Given the description of an element on the screen output the (x, y) to click on. 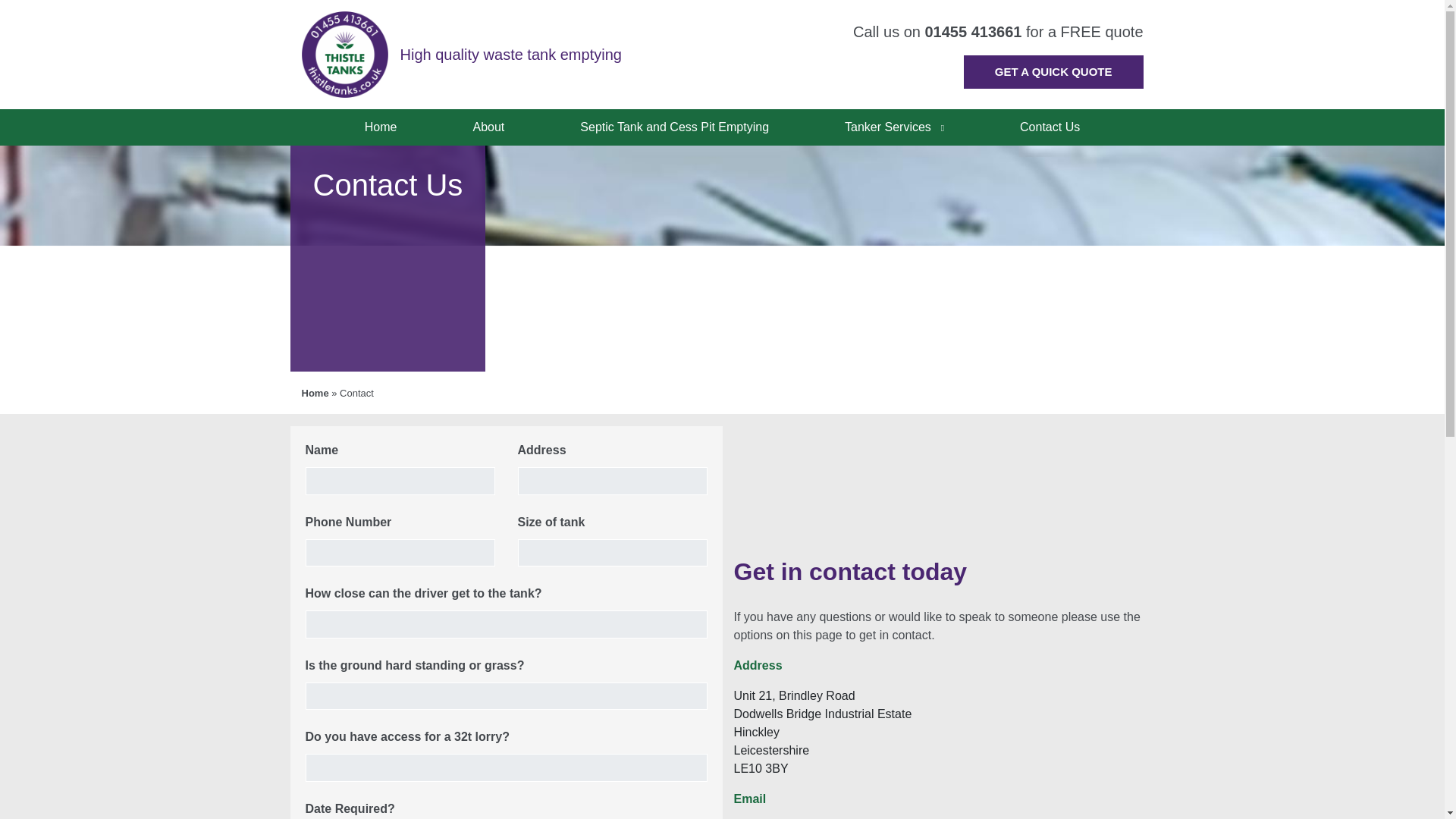
link to contact page (1052, 72)
Tanker Services (893, 126)
About (489, 126)
Septic Tank and Cess Pit Emptying (673, 126)
01455 413661 (973, 31)
Home (380, 126)
Home (315, 392)
Phone us link (973, 31)
GET A QUICK QUOTE (1052, 72)
Contact Us (1049, 126)
